Given the description of an element on the screen output the (x, y) to click on. 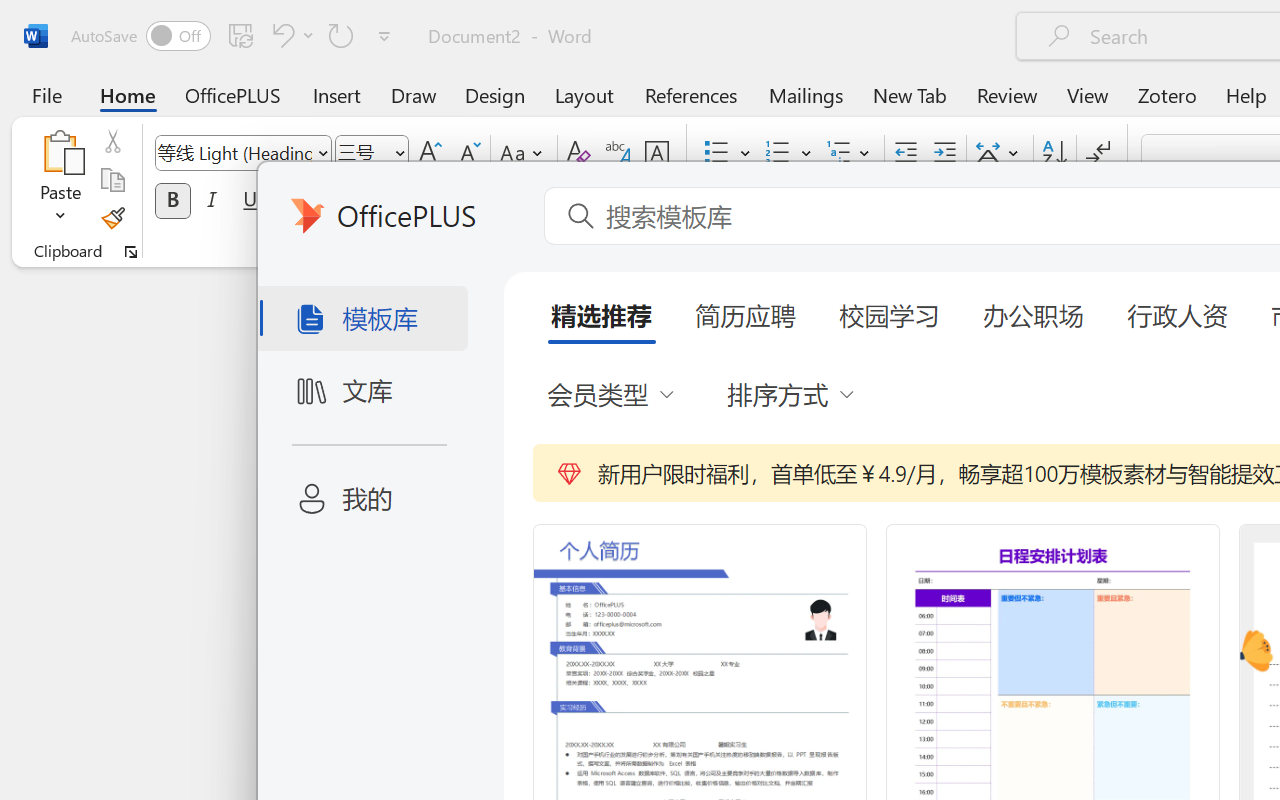
Cut (112, 141)
Design (495, 94)
Layout (584, 94)
Office Clipboard... (131, 252)
New Tab (909, 94)
Bold (172, 201)
Italic (212, 201)
Undo Typing (290, 35)
Insert (337, 94)
Repeat Doc Close (341, 35)
